Given the description of an element on the screen output the (x, y) to click on. 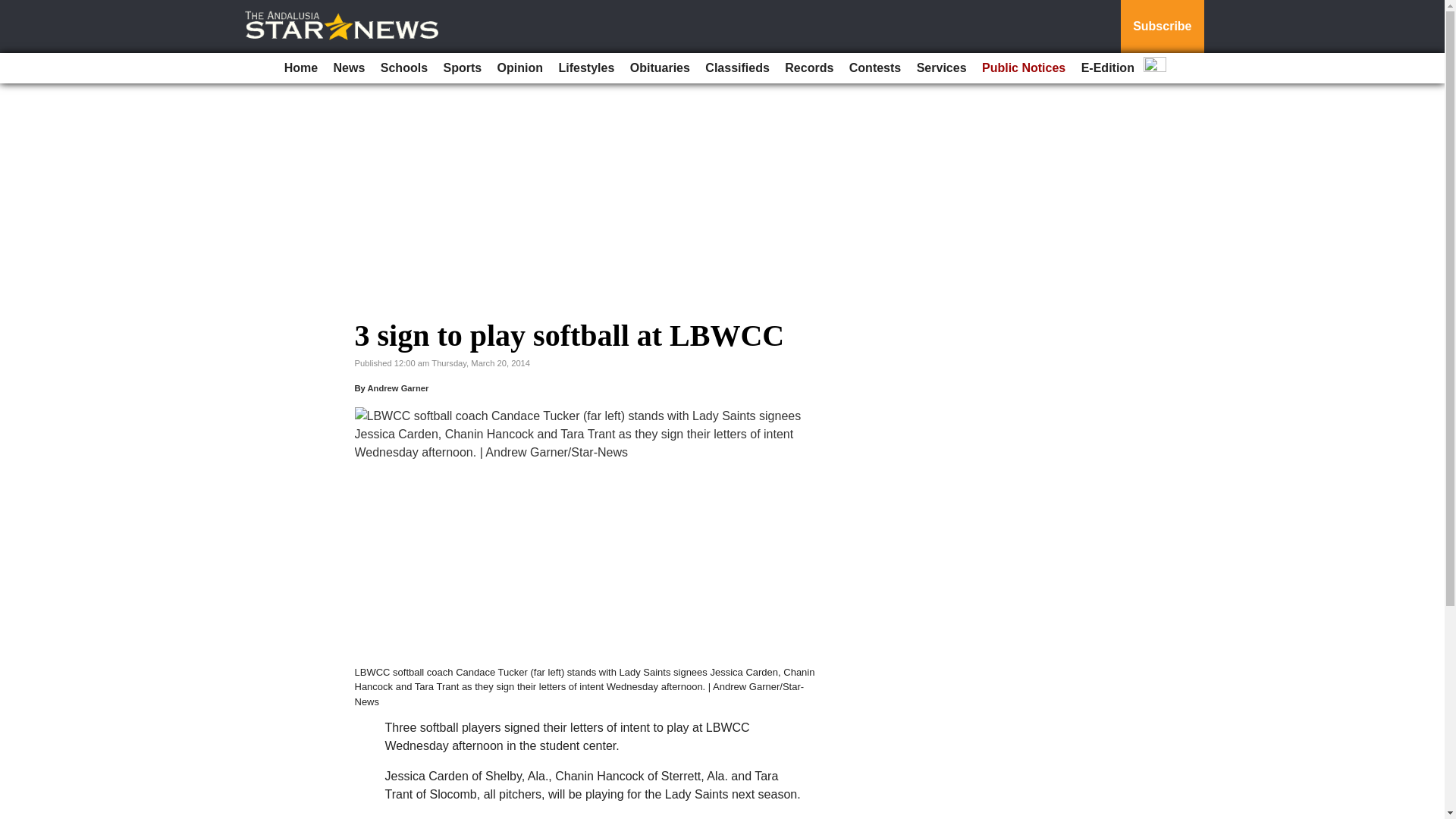
Lifestyles (585, 68)
Andrew Garner (397, 388)
Go (13, 9)
Classifieds (736, 68)
Schools (403, 68)
Public Notices (1023, 68)
News (349, 68)
E-Edition (1107, 68)
Home (300, 68)
Obituaries (659, 68)
